Given the description of an element on the screen output the (x, y) to click on. 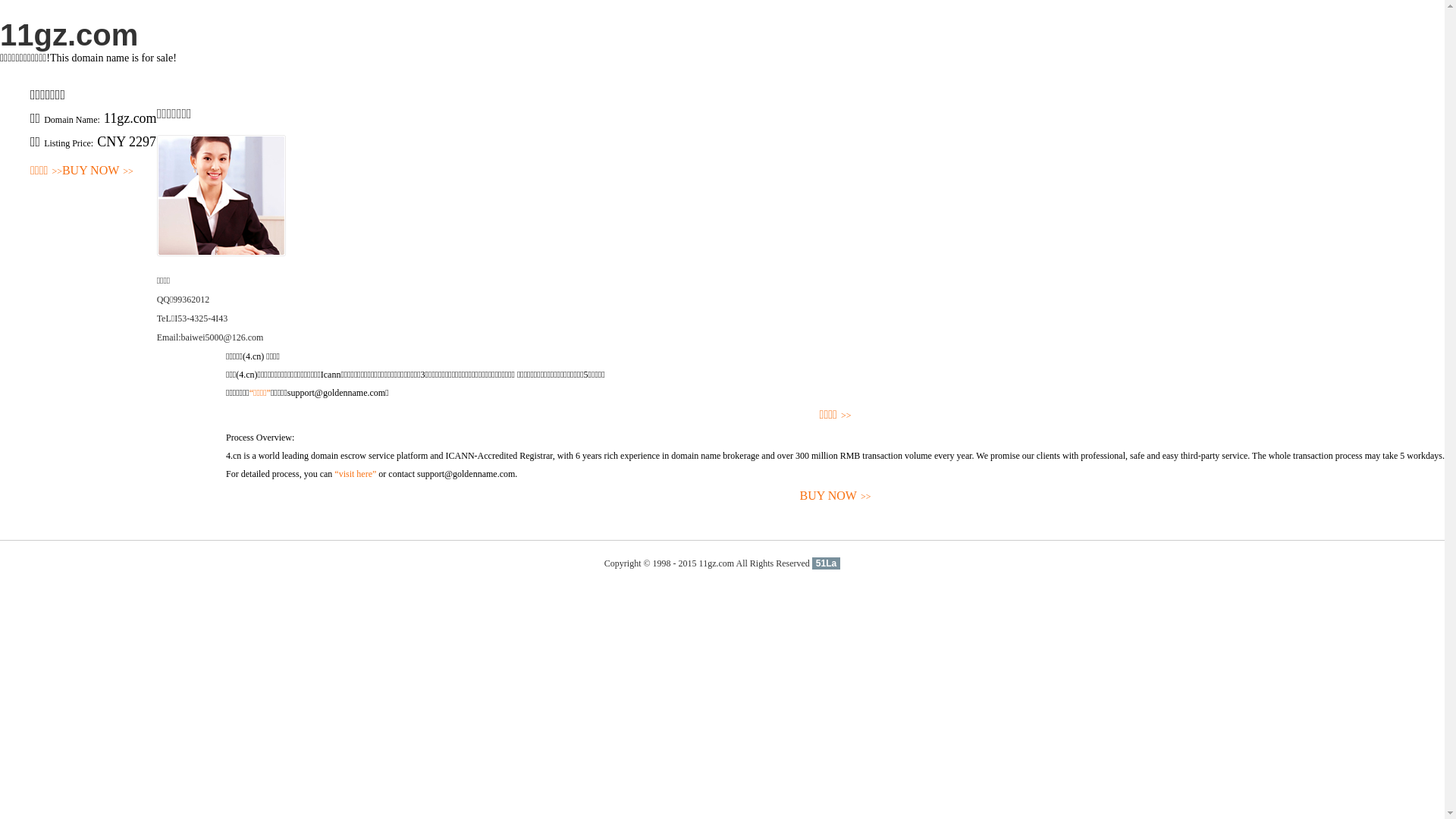
51La Element type: text (826, 563)
BUY NOW>> Element type: text (97, 170)
BUY NOW>> Element type: text (834, 496)
